Given the description of an element on the screen output the (x, y) to click on. 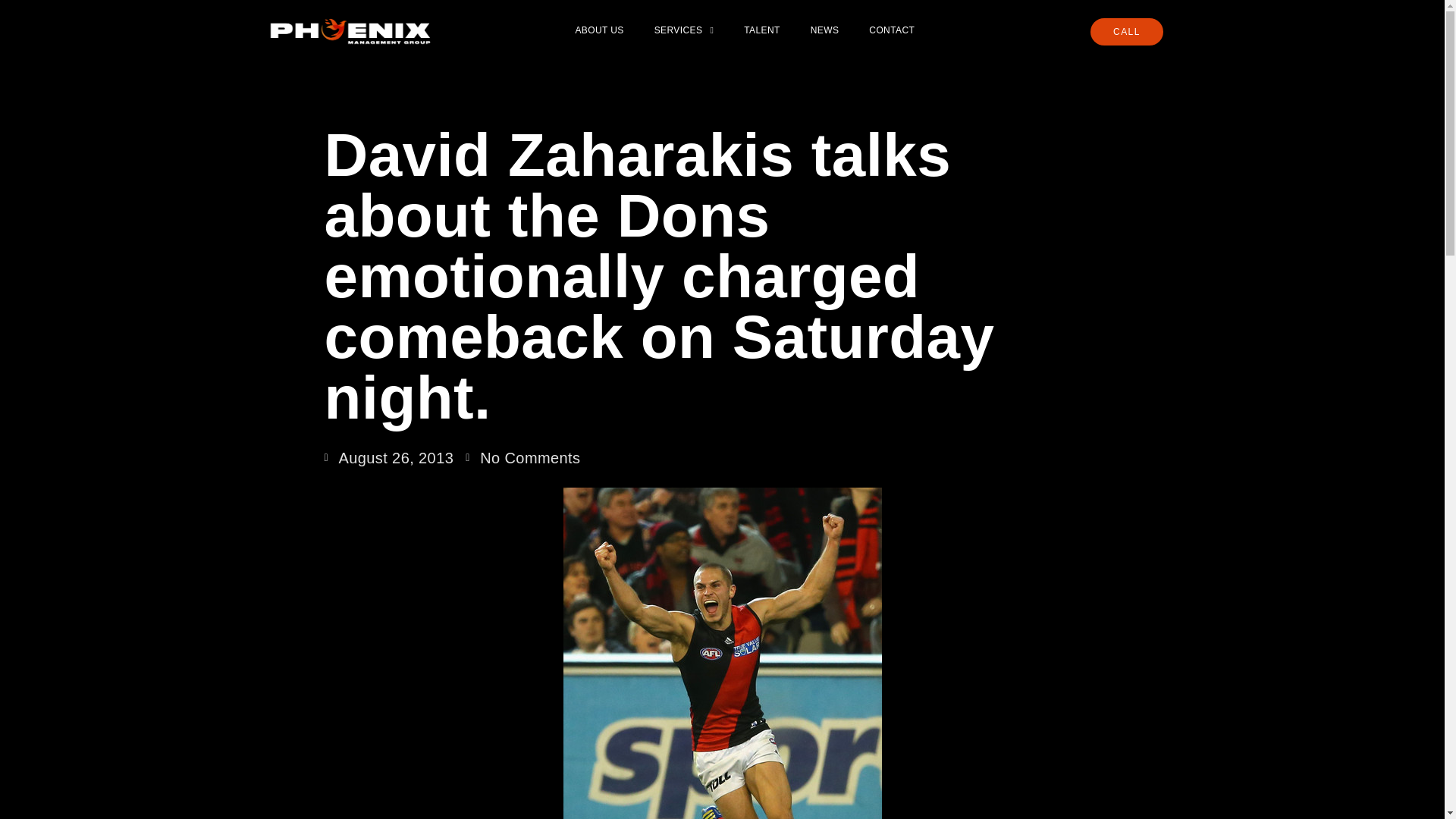
ABOUT US (599, 30)
SERVICES (684, 30)
CONTACT (891, 30)
NEWS (824, 30)
TALENT (761, 30)
CALL (1126, 31)
